Given the description of an element on the screen output the (x, y) to click on. 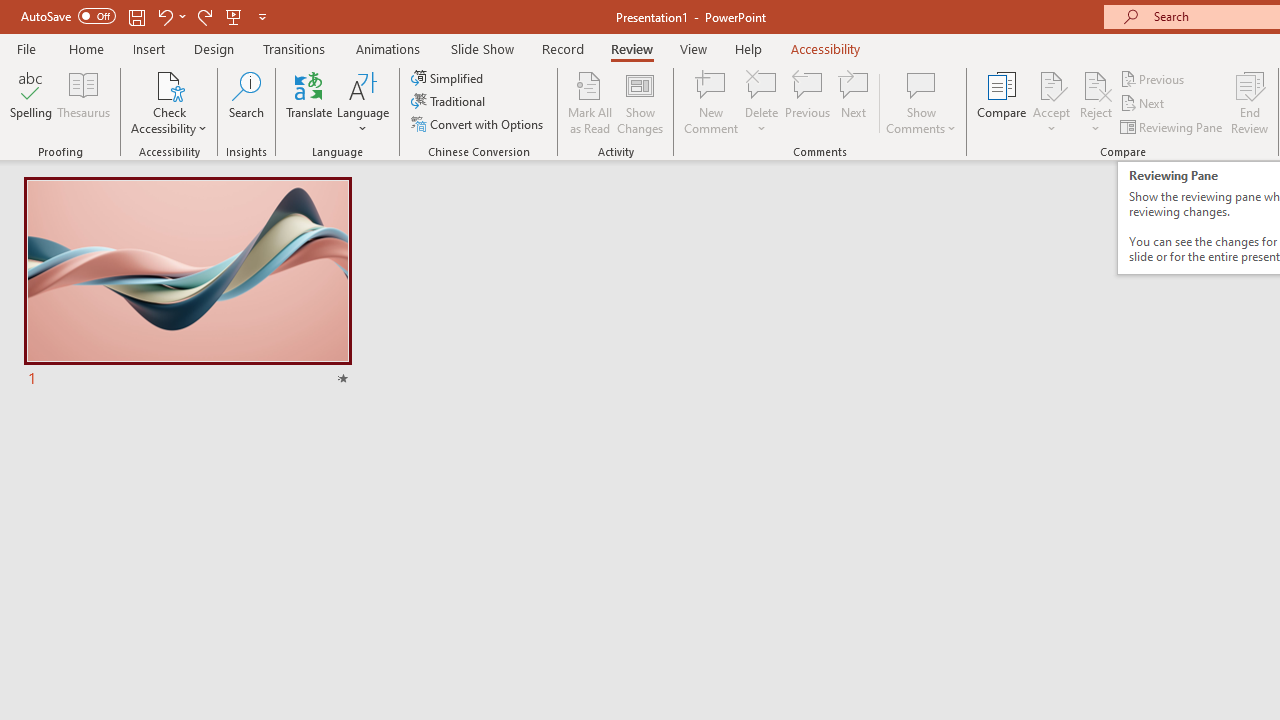
Compare (1002, 102)
Previous (1153, 78)
Reject (1096, 102)
End Review (1249, 102)
Accept (1051, 102)
